Given the description of an element on the screen output the (x, y) to click on. 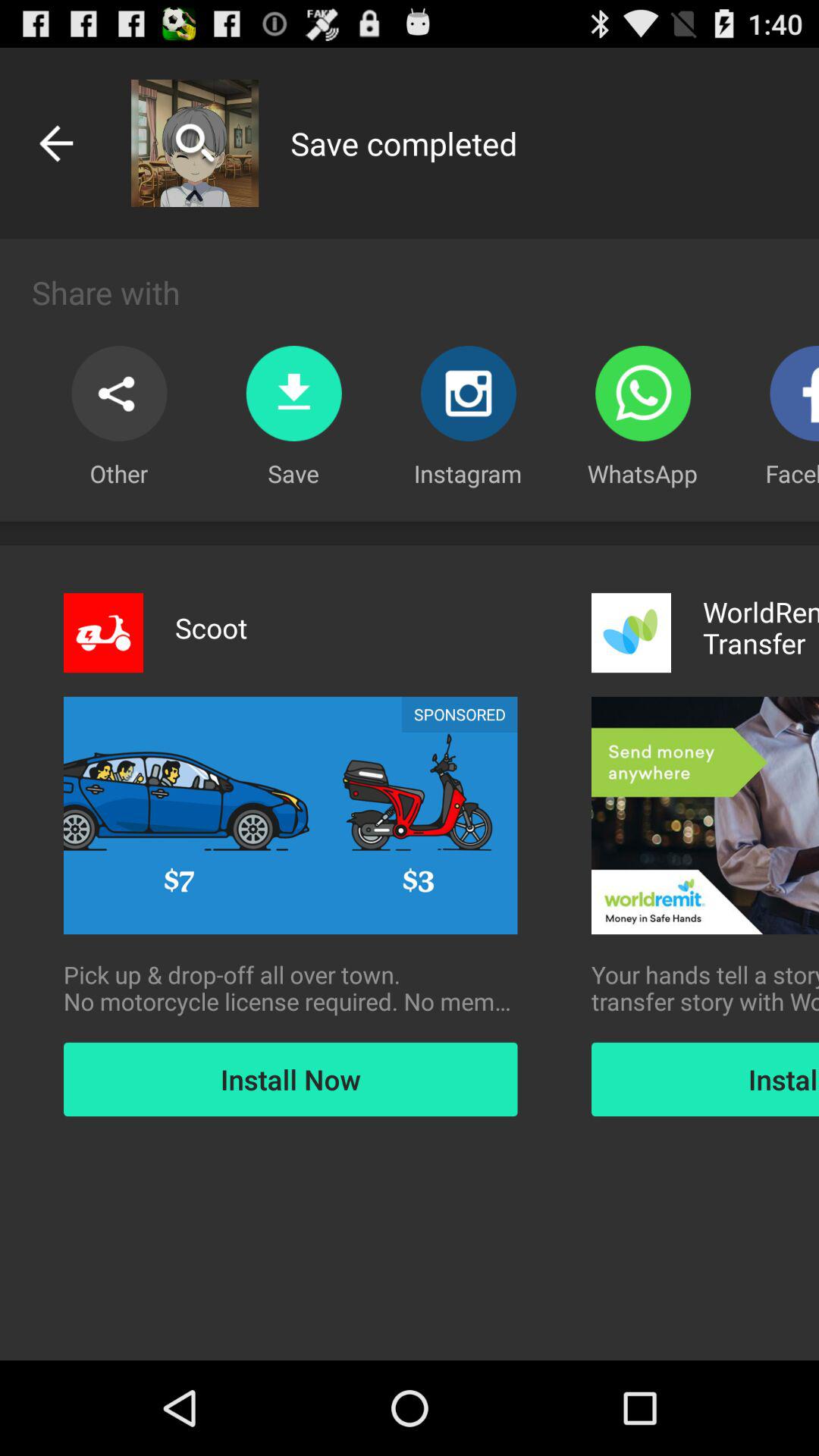
select pick up drop (290, 988)
